Given the description of an element on the screen output the (x, y) to click on. 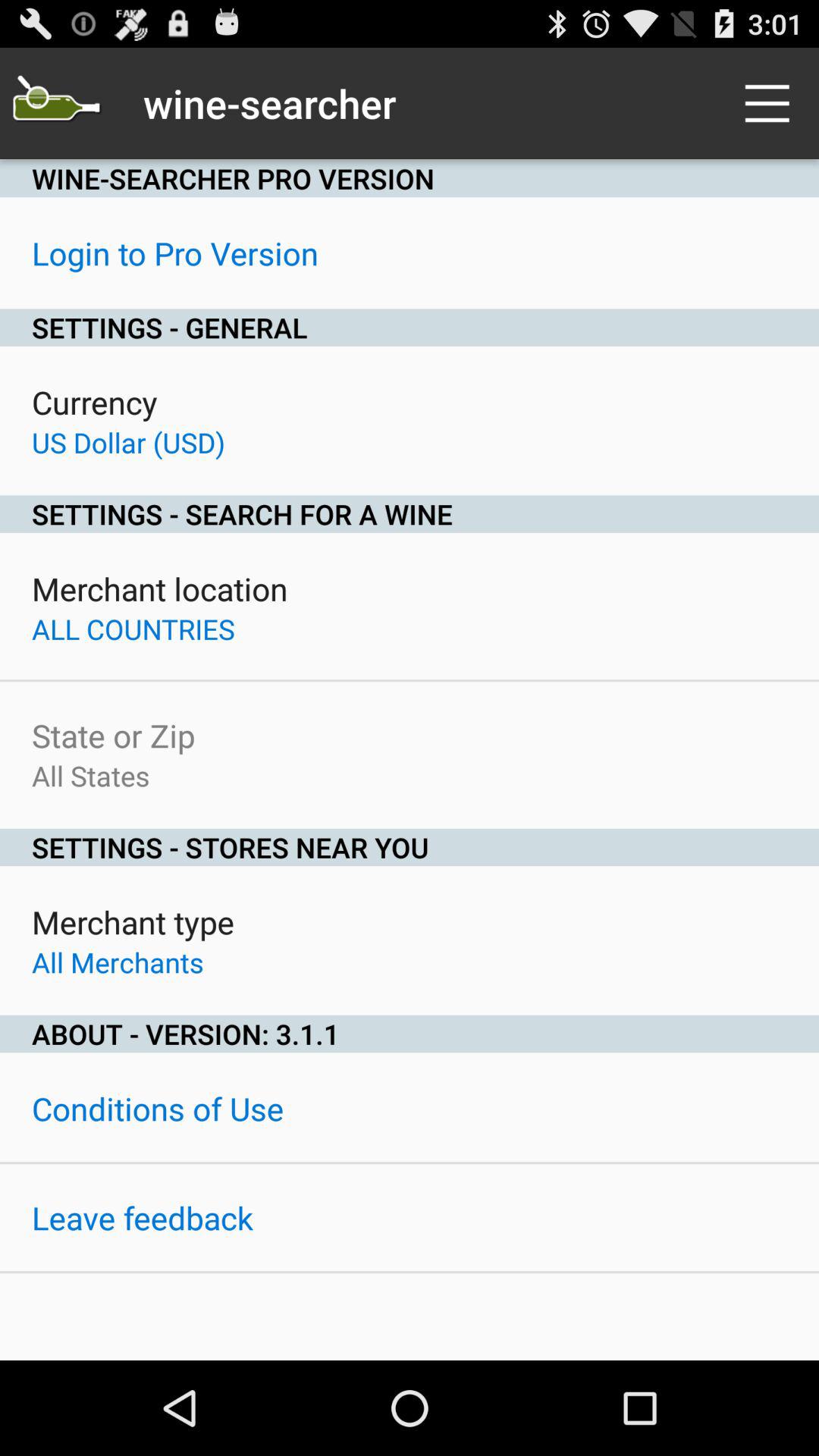
press icon at the top right corner (771, 103)
